Given the description of an element on the screen output the (x, y) to click on. 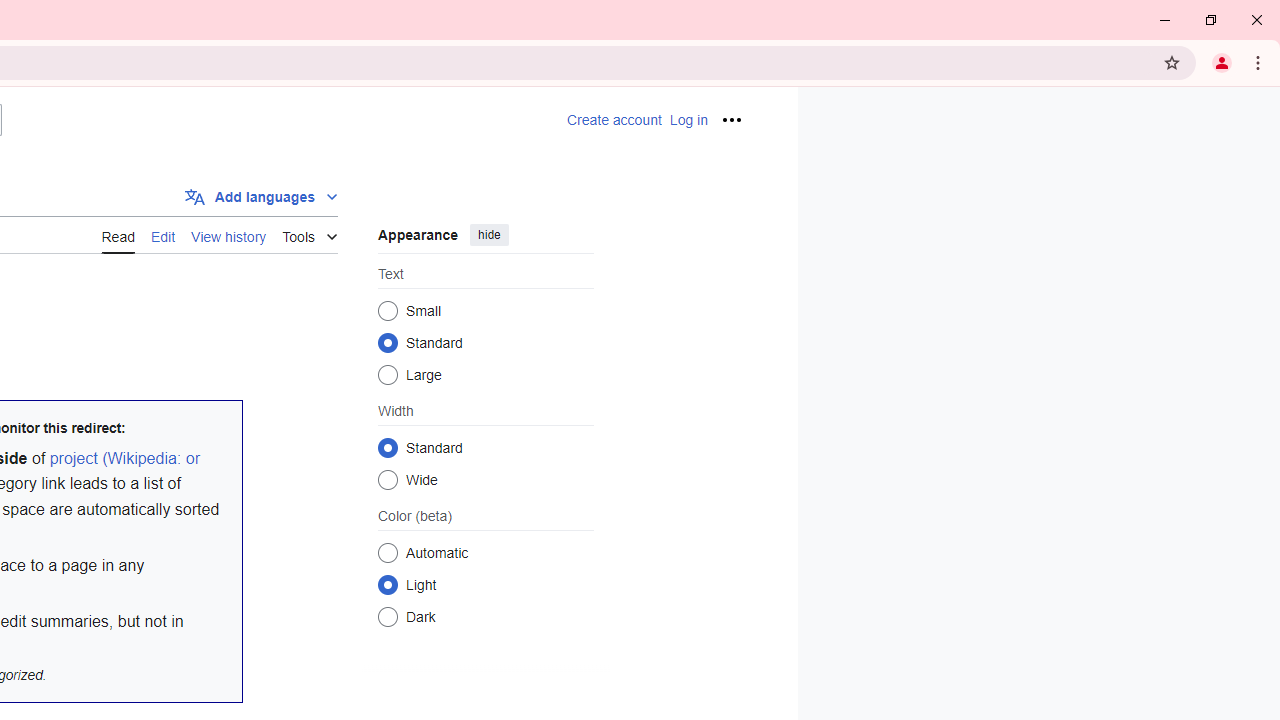
hide (489, 234)
Create account (613, 120)
Tools (309, 233)
Minimize (1165, 20)
AutomationID: pt-login-2 (688, 120)
AutomationID: ca-view (117, 234)
Wide (387, 479)
Light (387, 583)
Automatic (387, 552)
Small (387, 310)
Read (117, 235)
Bookmark this tab (1171, 62)
AutomationID: pt-createaccount-2 (613, 120)
